Given the description of an element on the screen output the (x, y) to click on. 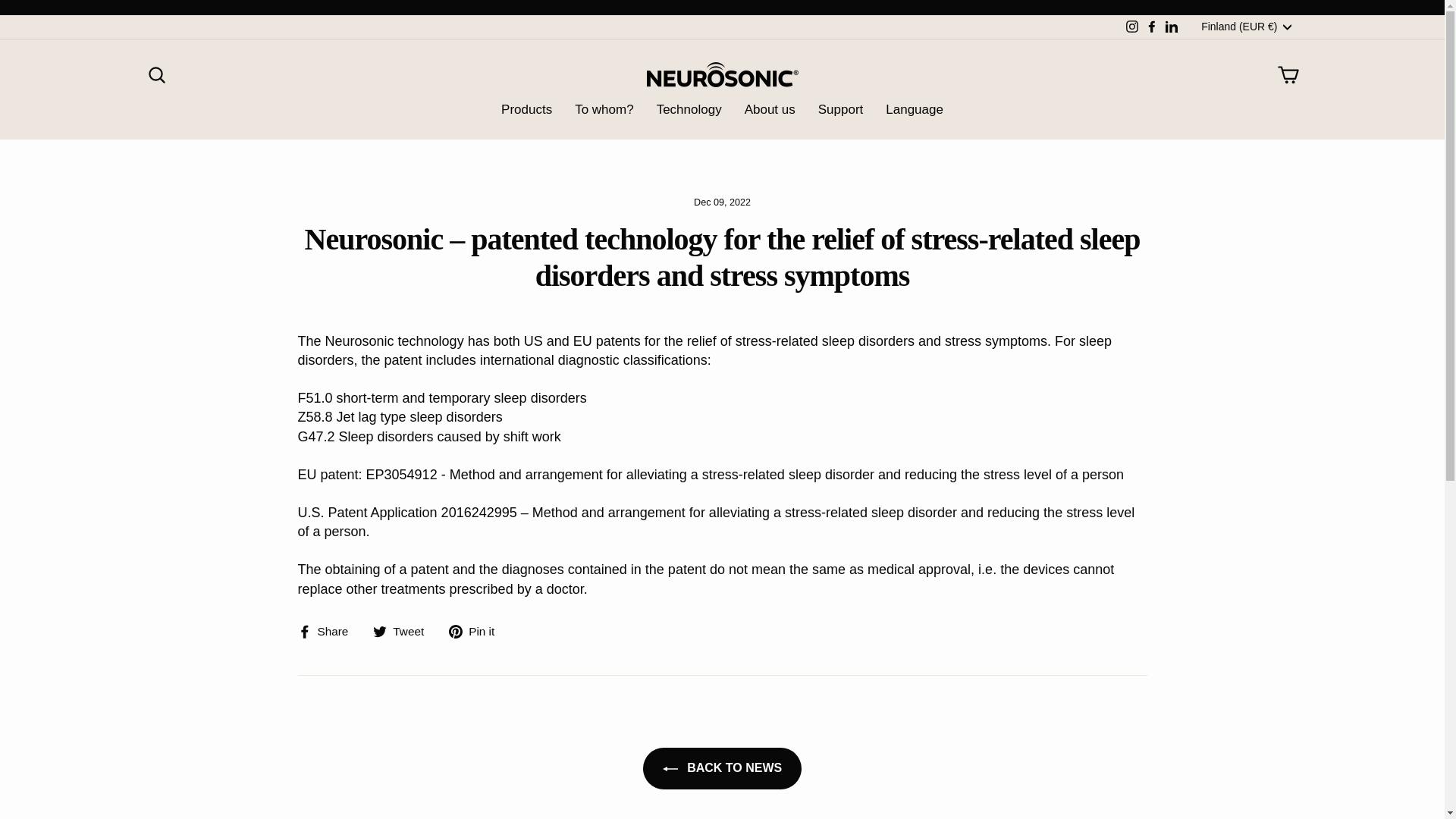
Tweet on Twitter (403, 630)
Pin on Pinterest (476, 630)
Share on Facebook (328, 630)
